Given the description of an element on the screen output the (x, y) to click on. 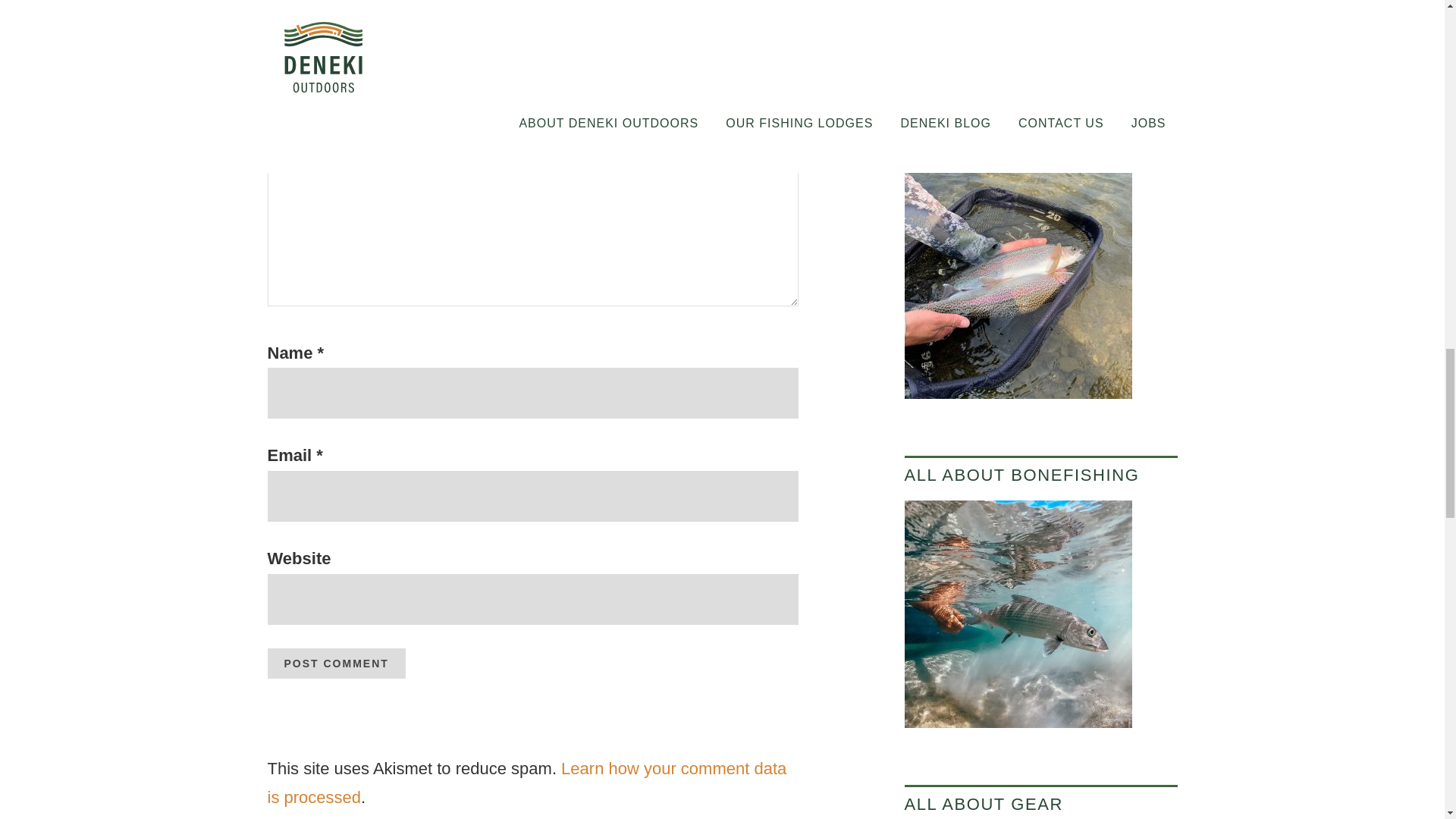
Post Comment (335, 663)
Learn how your comment data is processed (526, 783)
Post Comment (335, 663)
